Given the description of an element on the screen output the (x, y) to click on. 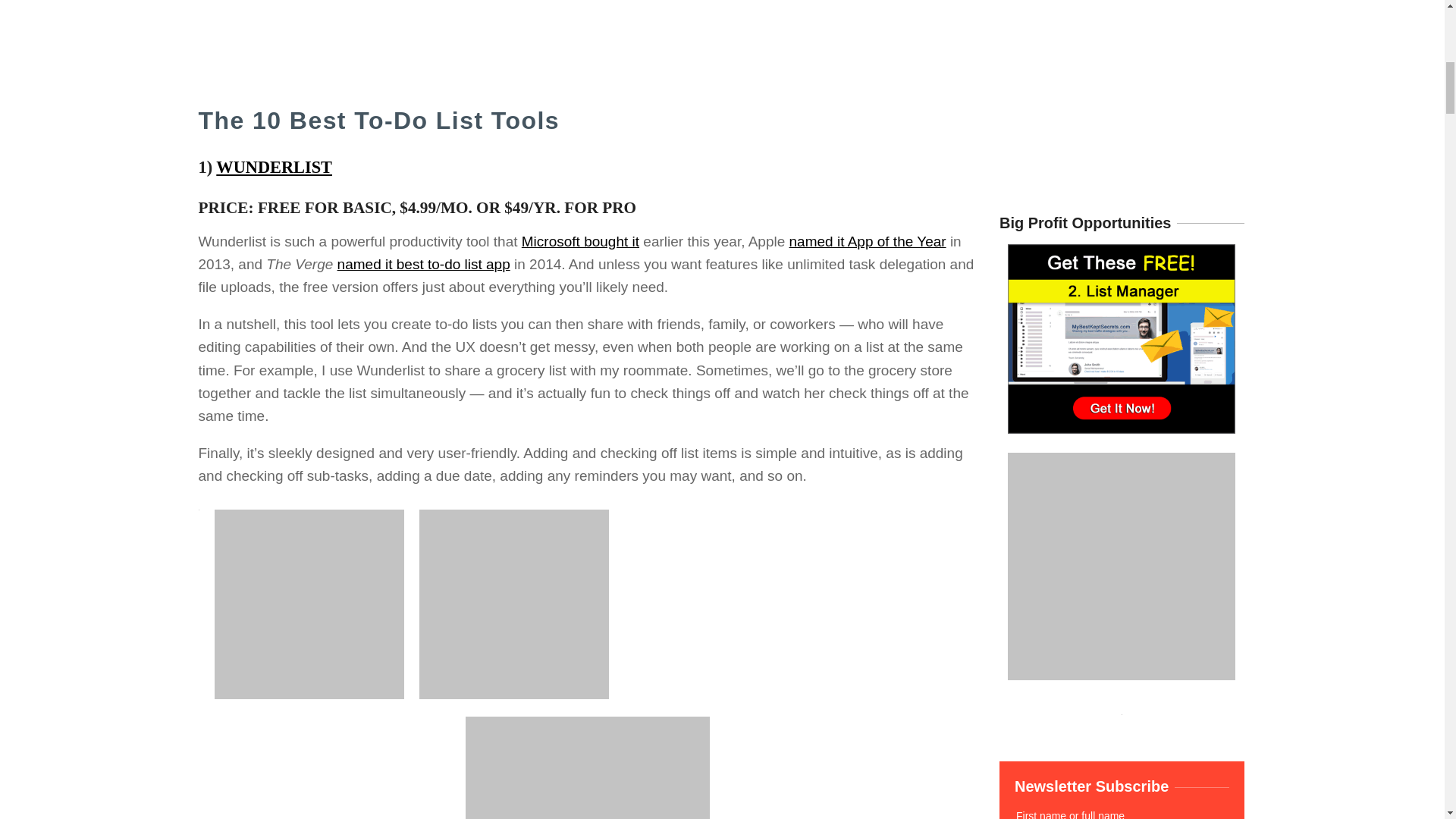
wunderlist-screenshot.jpeg (587, 767)
